Given the description of an element on the screen output the (x, y) to click on. 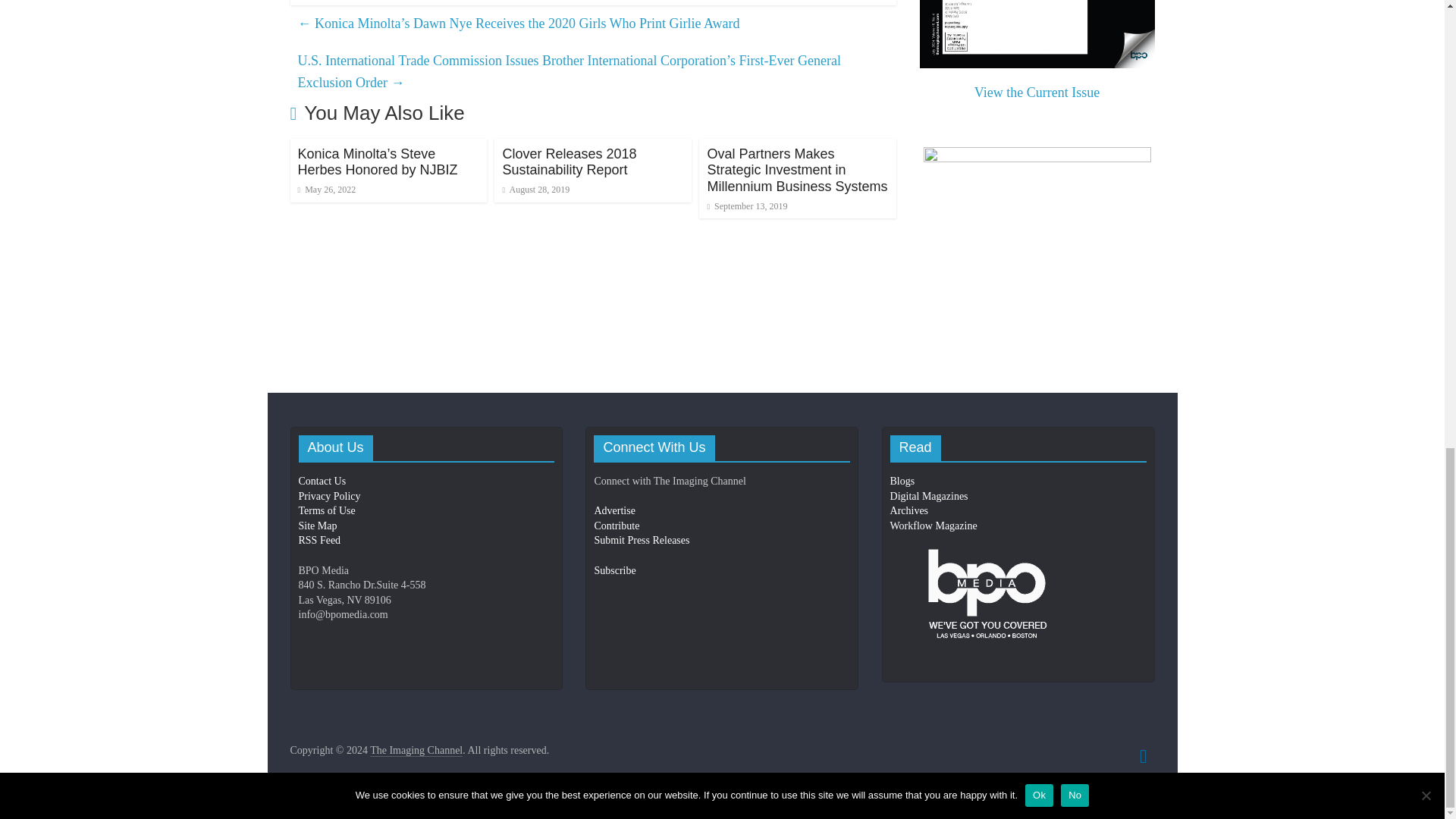
11:26 am (326, 189)
Clover Releases 2018 Sustainability Report (569, 162)
1:03 pm (535, 189)
